Given the description of an element on the screen output the (x, y) to click on. 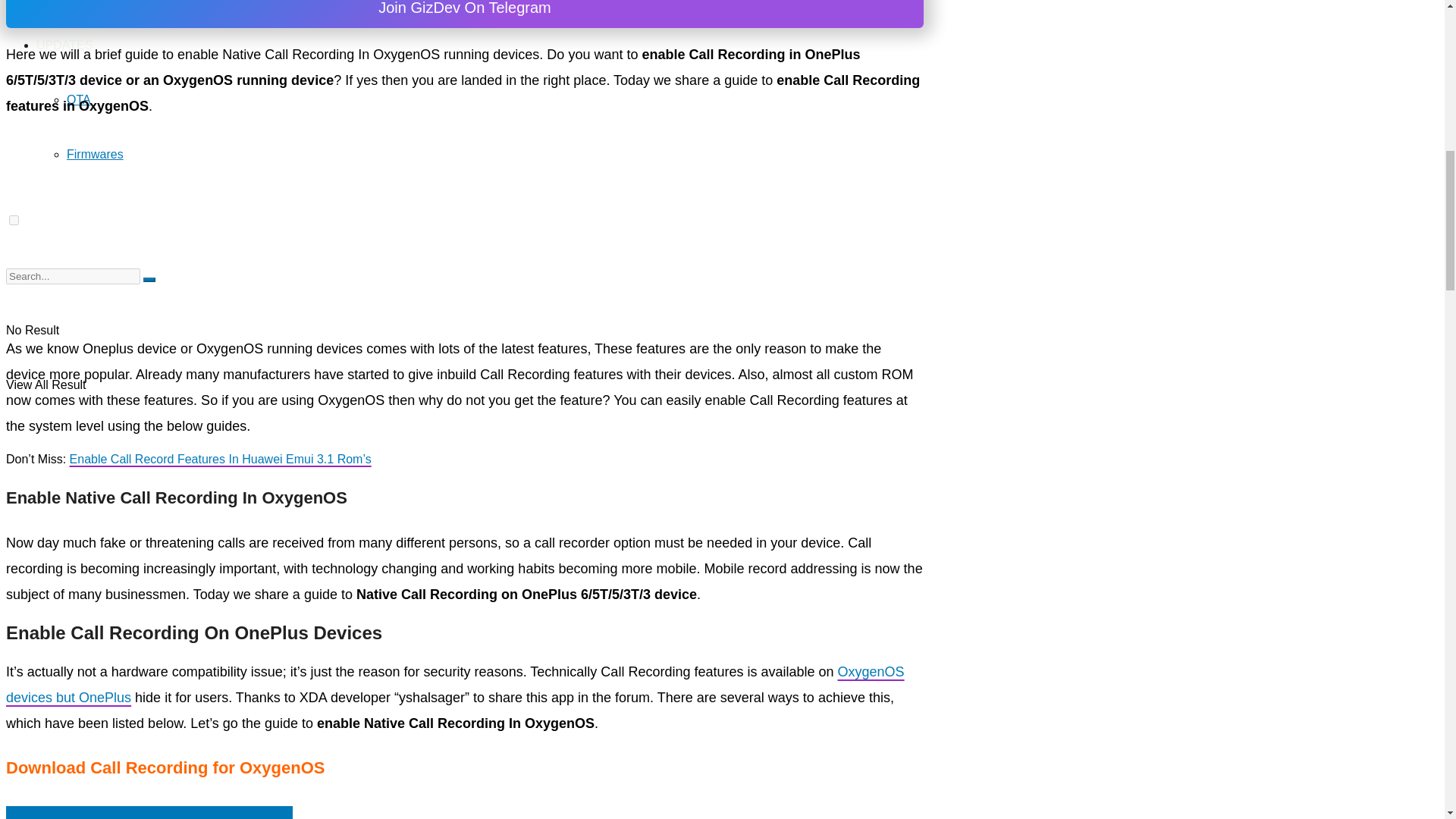
OTA (78, 99)
on (13, 220)
UPDATES (64, 44)
Join GizDev On Telegram (464, 13)
Firmwares (94, 154)
